Given the description of an element on the screen output the (x, y) to click on. 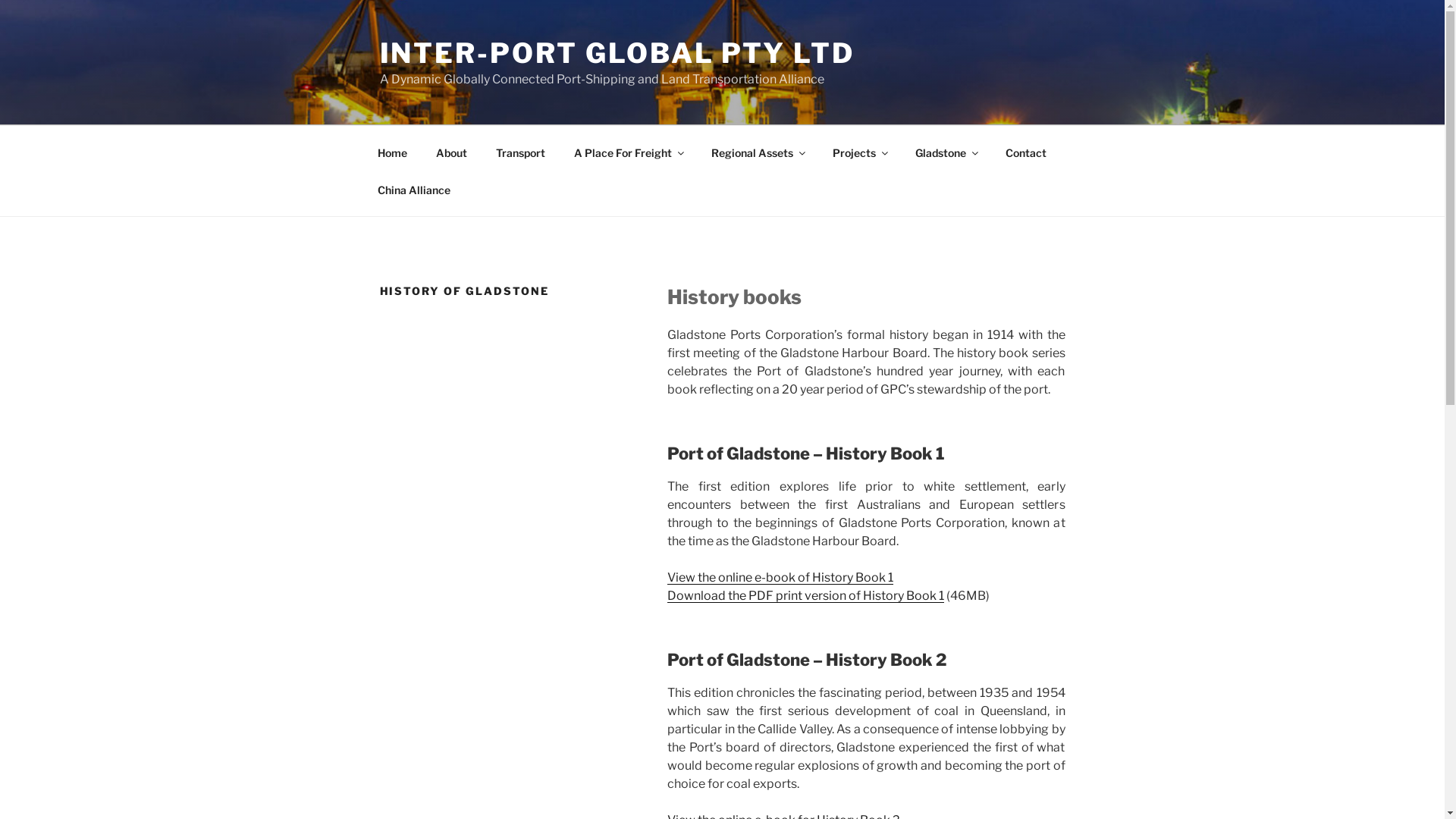
Home Element type: text (392, 151)
Gladstone Element type: text (946, 151)
About Element type: text (451, 151)
China Alliance Element type: text (413, 189)
Projects Element type: text (859, 151)
View the online e-book of History Book 1 Element type: text (780, 577)
INTER-PORT GLOBAL PTY LTD Element type: text (616, 52)
Transport Element type: text (520, 151)
Regional Assets Element type: text (756, 151)
Contact Element type: text (1025, 151)
Download the PDF print version of History Book 1 Element type: text (805, 595)
A Place For Freight Element type: text (628, 151)
Skip to content Element type: text (0, 0)
